Given the description of an element on the screen output the (x, y) to click on. 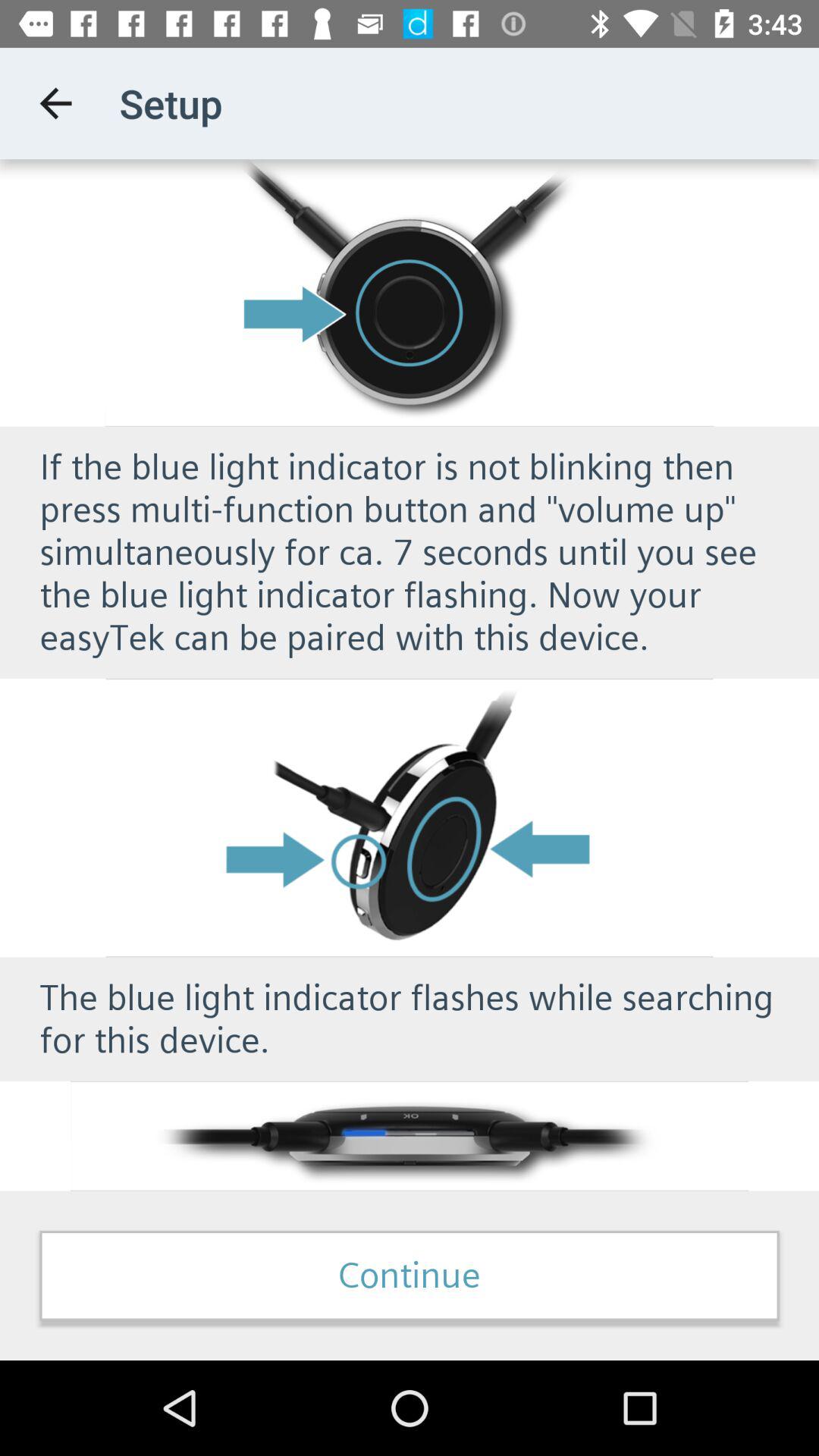
turn off the icon to the left of setup app (55, 103)
